Given the description of an element on the screen output the (x, y) to click on. 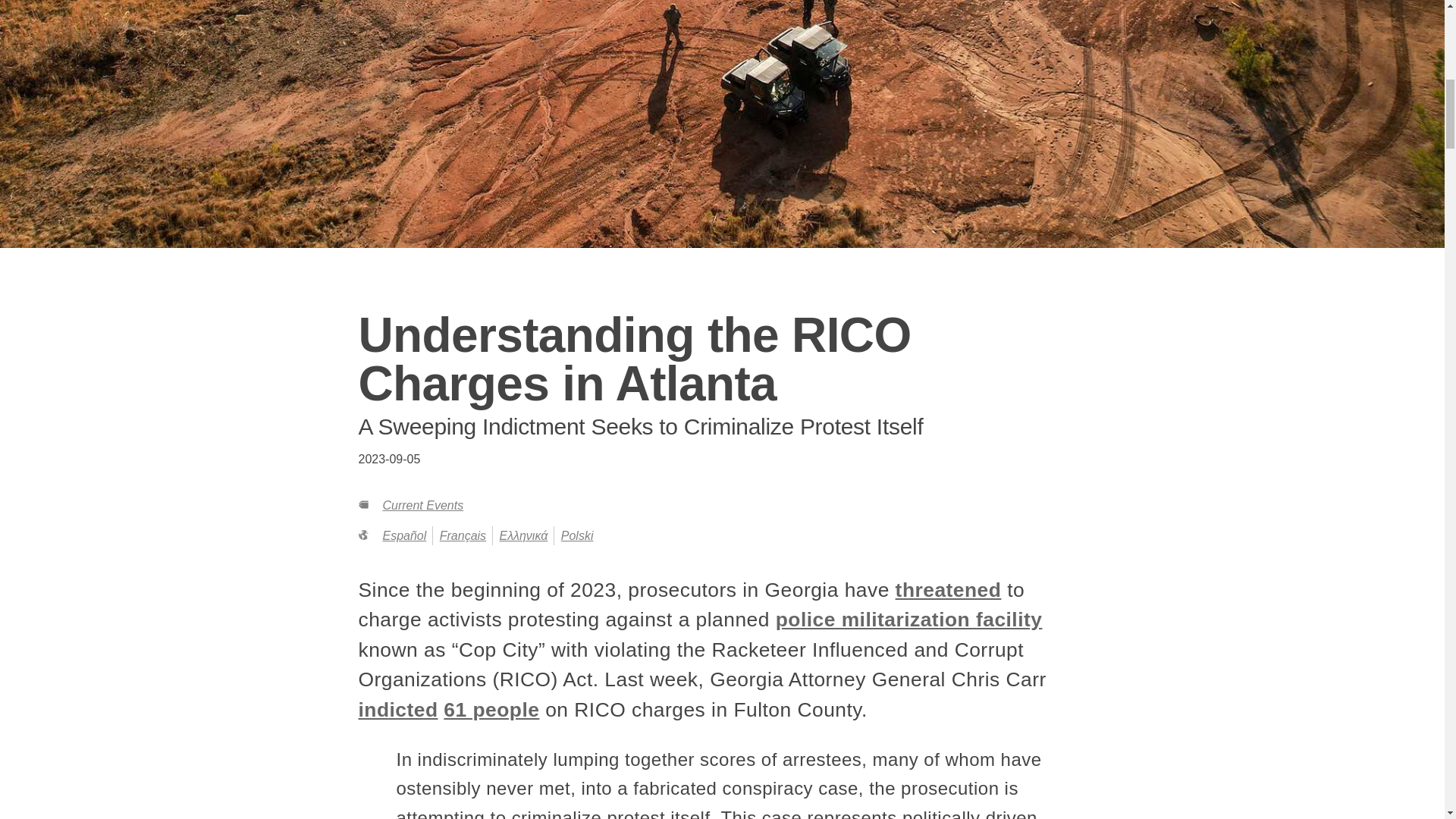
indicted (398, 709)
61 people (491, 709)
threatened (948, 589)
police militarization facility (909, 619)
Current Events (422, 504)
Polski (577, 535)
